Given the description of an element on the screen output the (x, y) to click on. 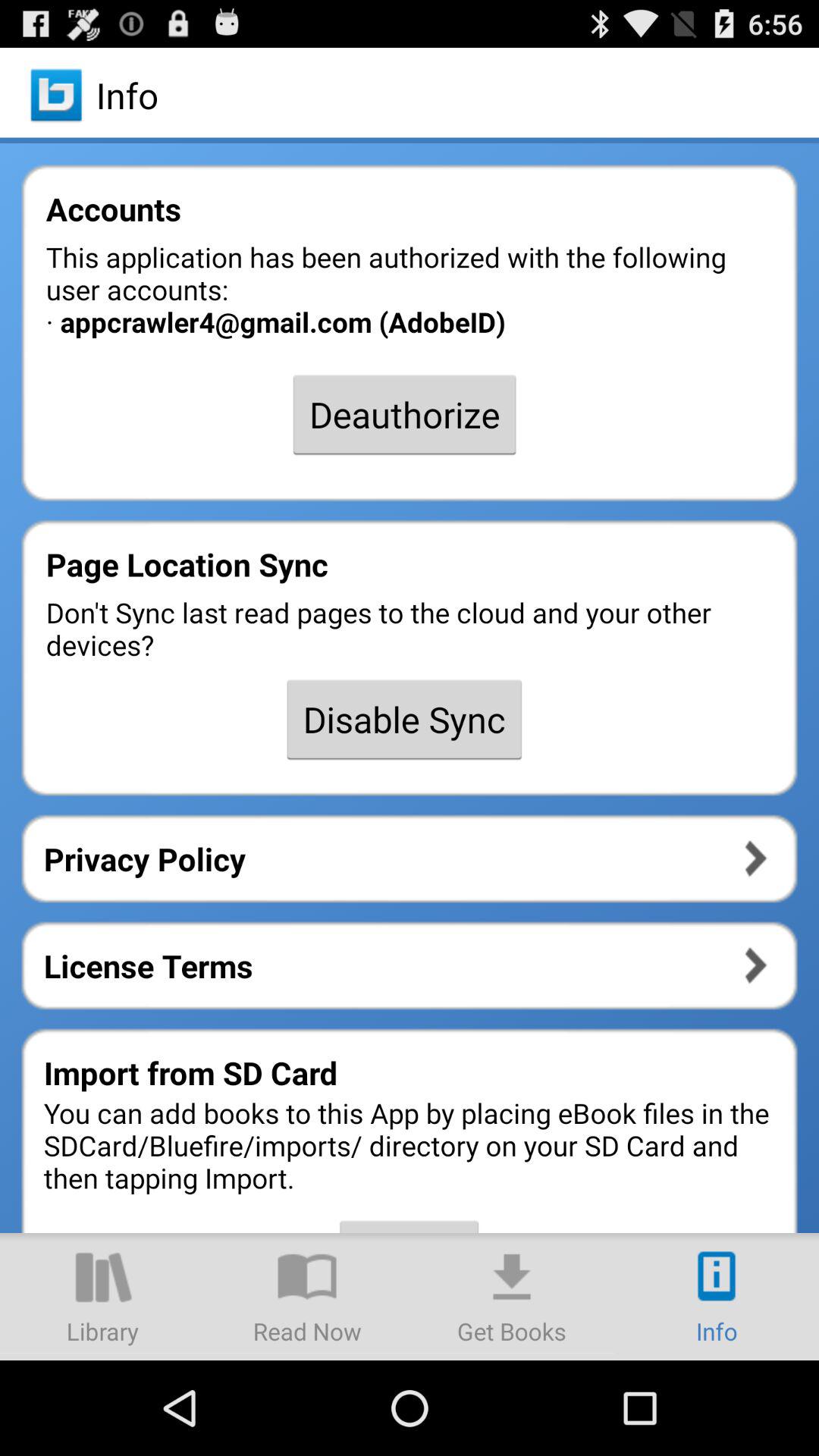
select for library (102, 1296)
